Given the description of an element on the screen output the (x, y) to click on. 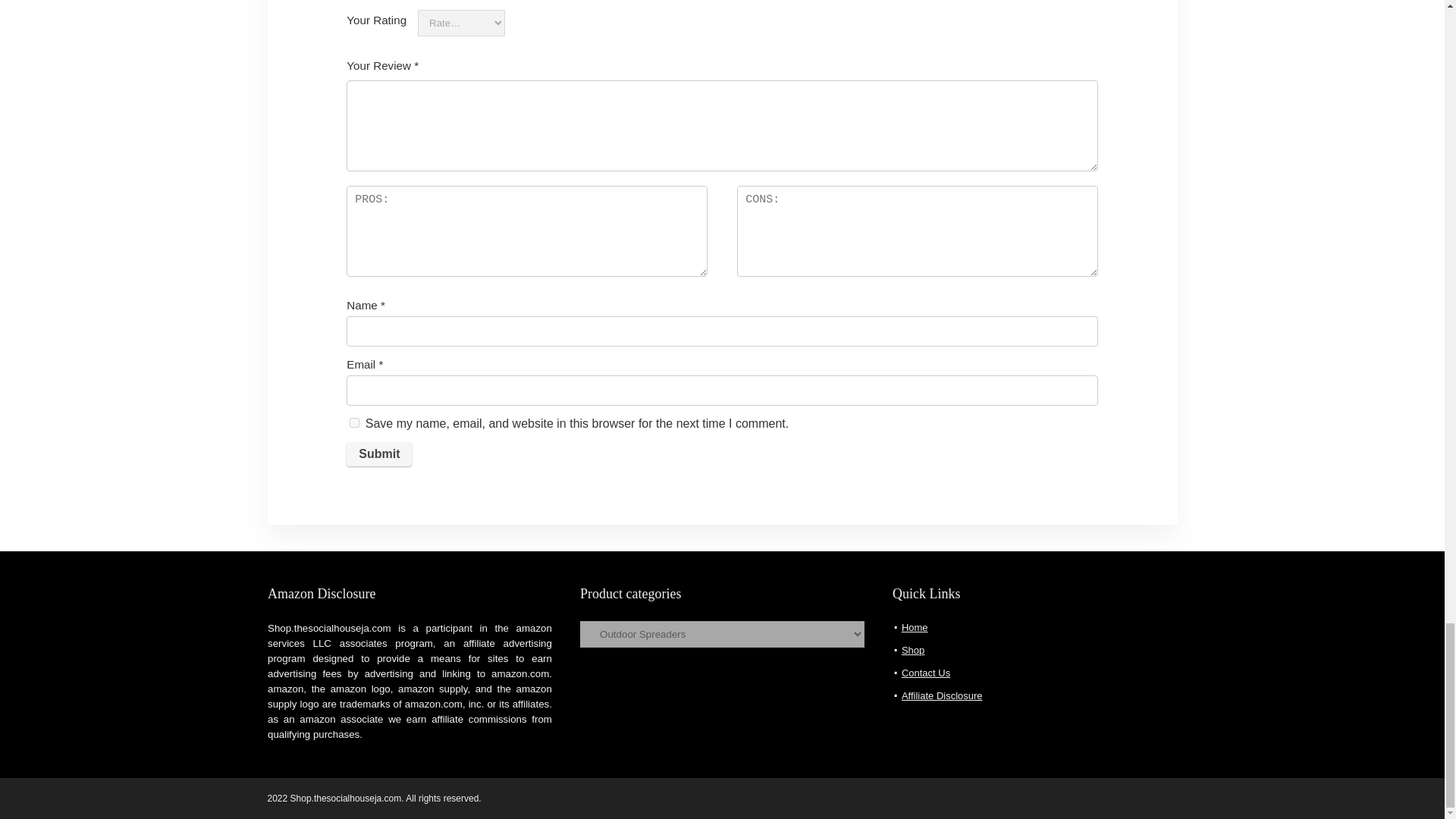
Submit (379, 454)
yes (354, 422)
